Given the description of an element on the screen output the (x, y) to click on. 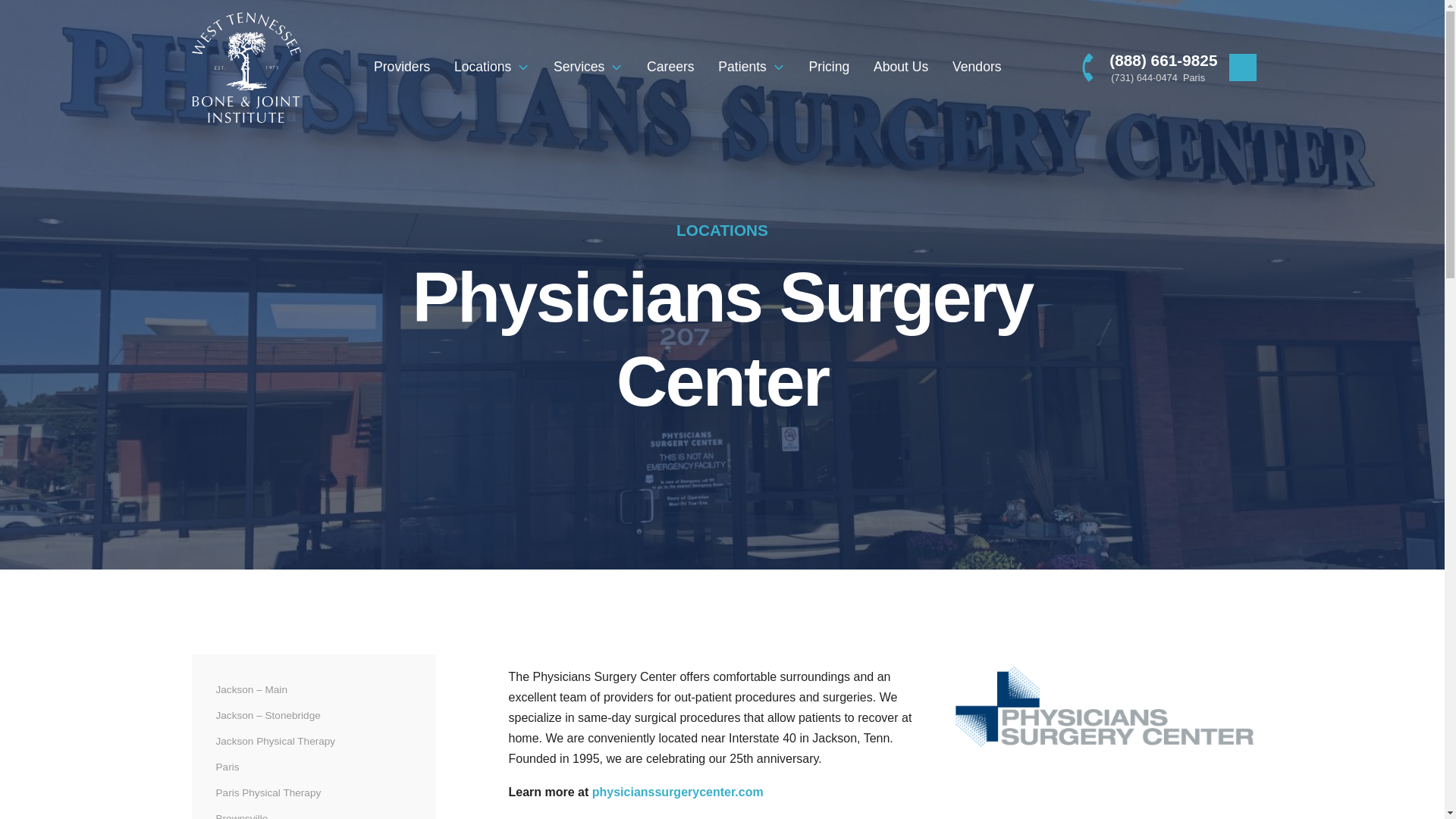
LOCATIONS (722, 230)
Locations (491, 67)
About Us (900, 67)
physicianssurgerycenter.com (677, 791)
Patients (751, 67)
Services (587, 67)
Vendors (976, 67)
Providers (401, 67)
Careers (670, 67)
Pricing (828, 67)
